Given the description of an element on the screen output the (x, y) to click on. 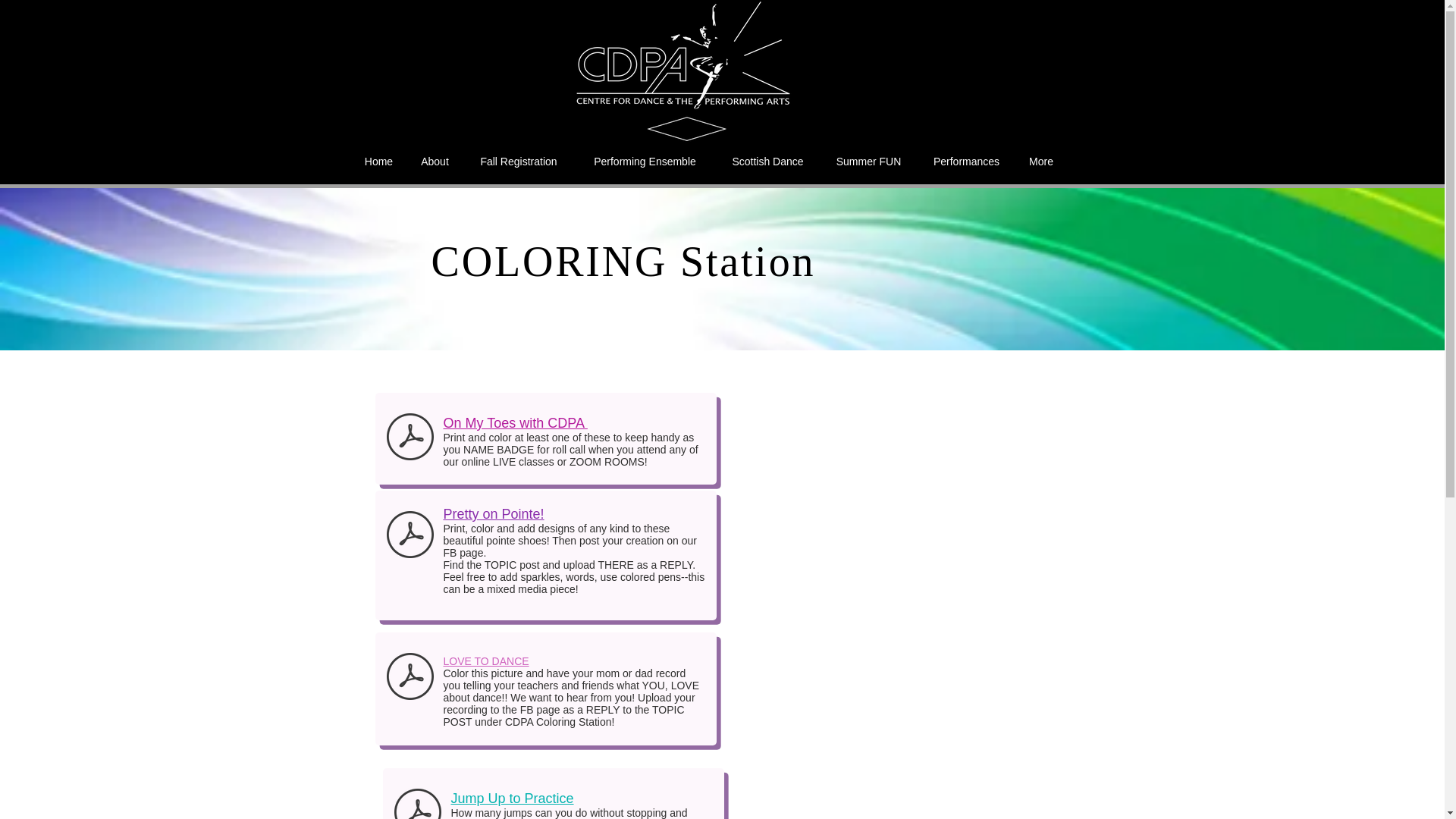
jump up.pdf (417, 801)
Scottish Dance (768, 161)
About (434, 161)
I CAN DANCE SUMMER COLOR.pdf (408, 677)
On My Toes with CDPA  (514, 422)
Performing Ensemble (645, 161)
on my toes with CDPA.pdf (408, 437)
Summer FUN (869, 161)
Pretty on Pointe! (492, 513)
Jump Up to Practice (511, 798)
Performances (966, 161)
Pretty on Pointe.pdf (408, 535)
LOVE TO DANCE (485, 661)
Fall Registration (518, 161)
Home (378, 161)
